Given the description of an element on the screen output the (x, y) to click on. 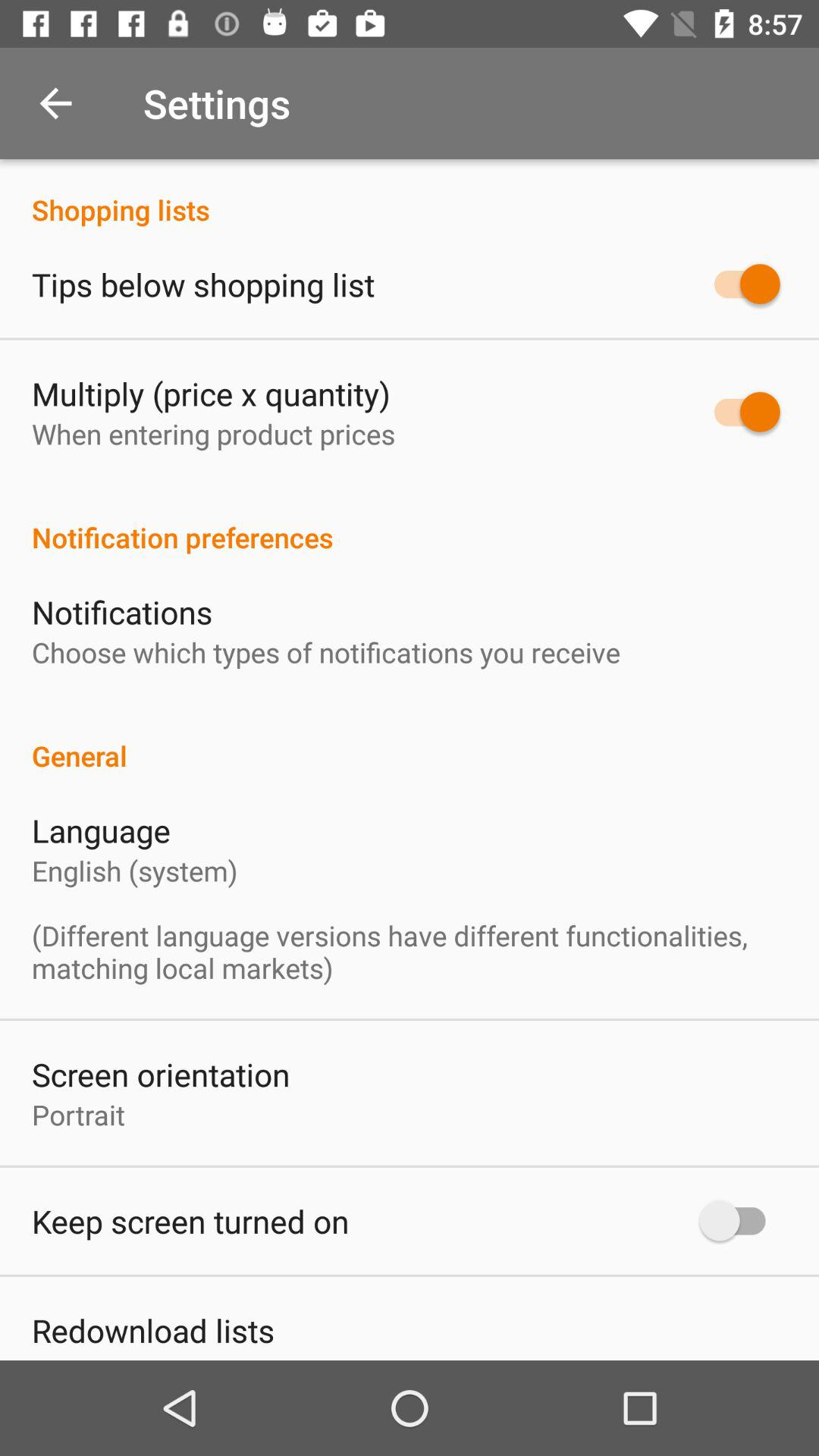
jump to multiply price x item (210, 393)
